Given the description of an element on the screen output the (x, y) to click on. 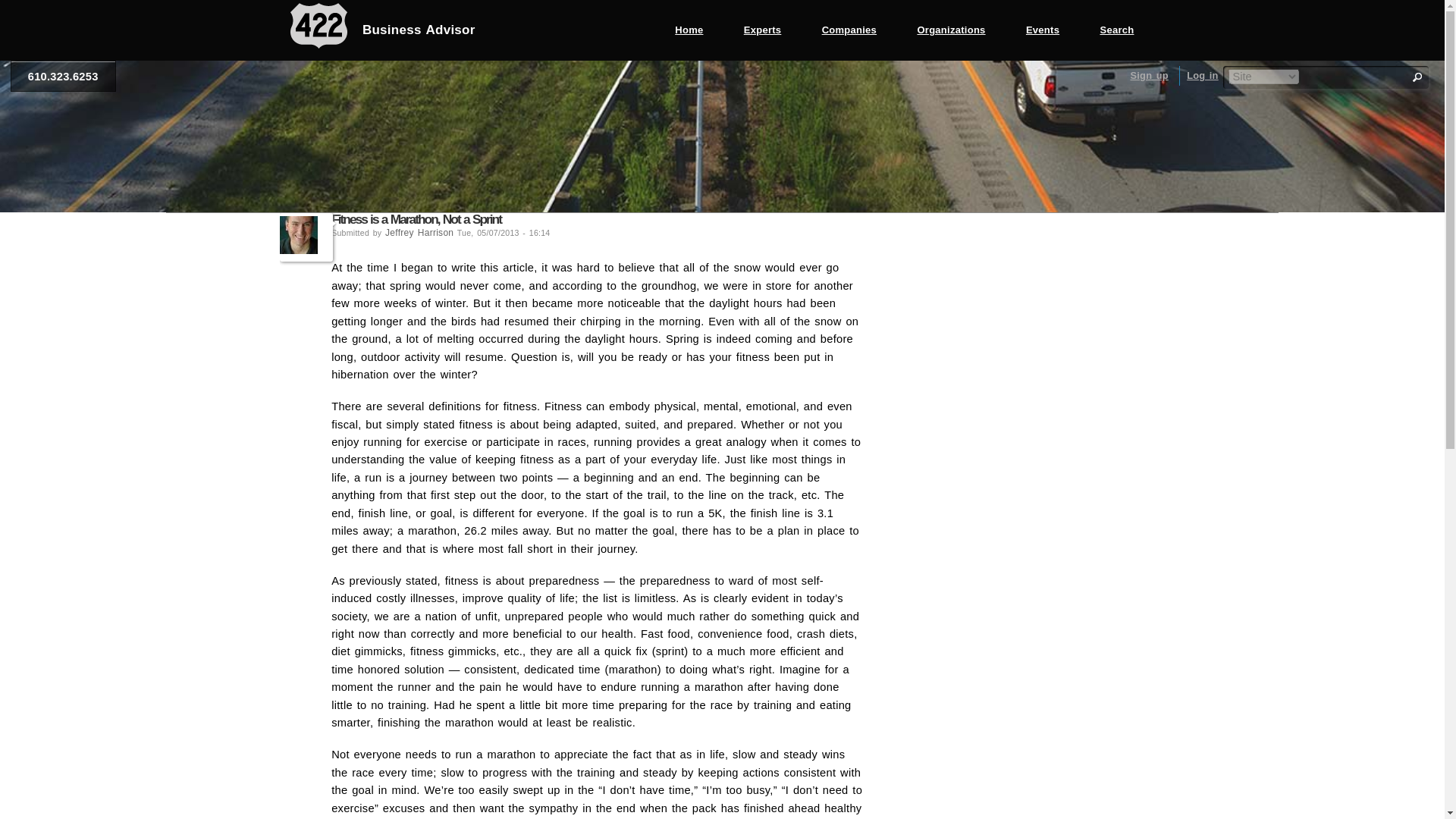
Business Advisor (382, 30)
Organizations (951, 30)
Experts (762, 30)
Events (1043, 30)
Jeffrey Harrison (418, 232)
Enter the terms you wish to search for. (1341, 77)
Home (689, 30)
Companies (849, 30)
610.323.6253 (63, 75)
View Jeffrey Harrison's profile. (306, 236)
Search (1117, 30)
View user profile. (418, 232)
Search (1417, 77)
Sign up (1148, 75)
